Given the description of an element on the screen output the (x, y) to click on. 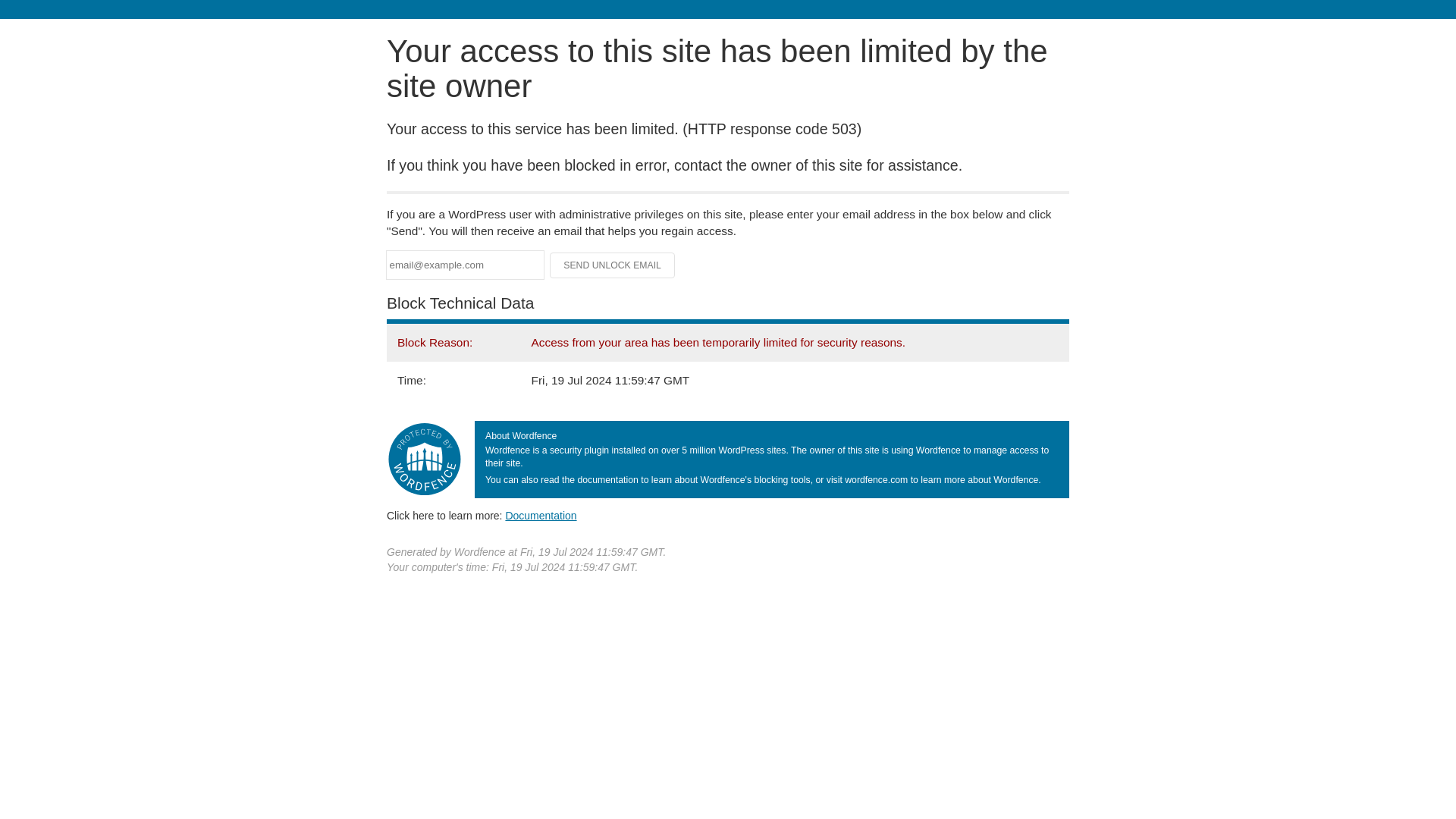
Send Unlock Email (612, 265)
Documentation (540, 515)
Send Unlock Email (612, 265)
